Given the description of an element on the screen output the (x, y) to click on. 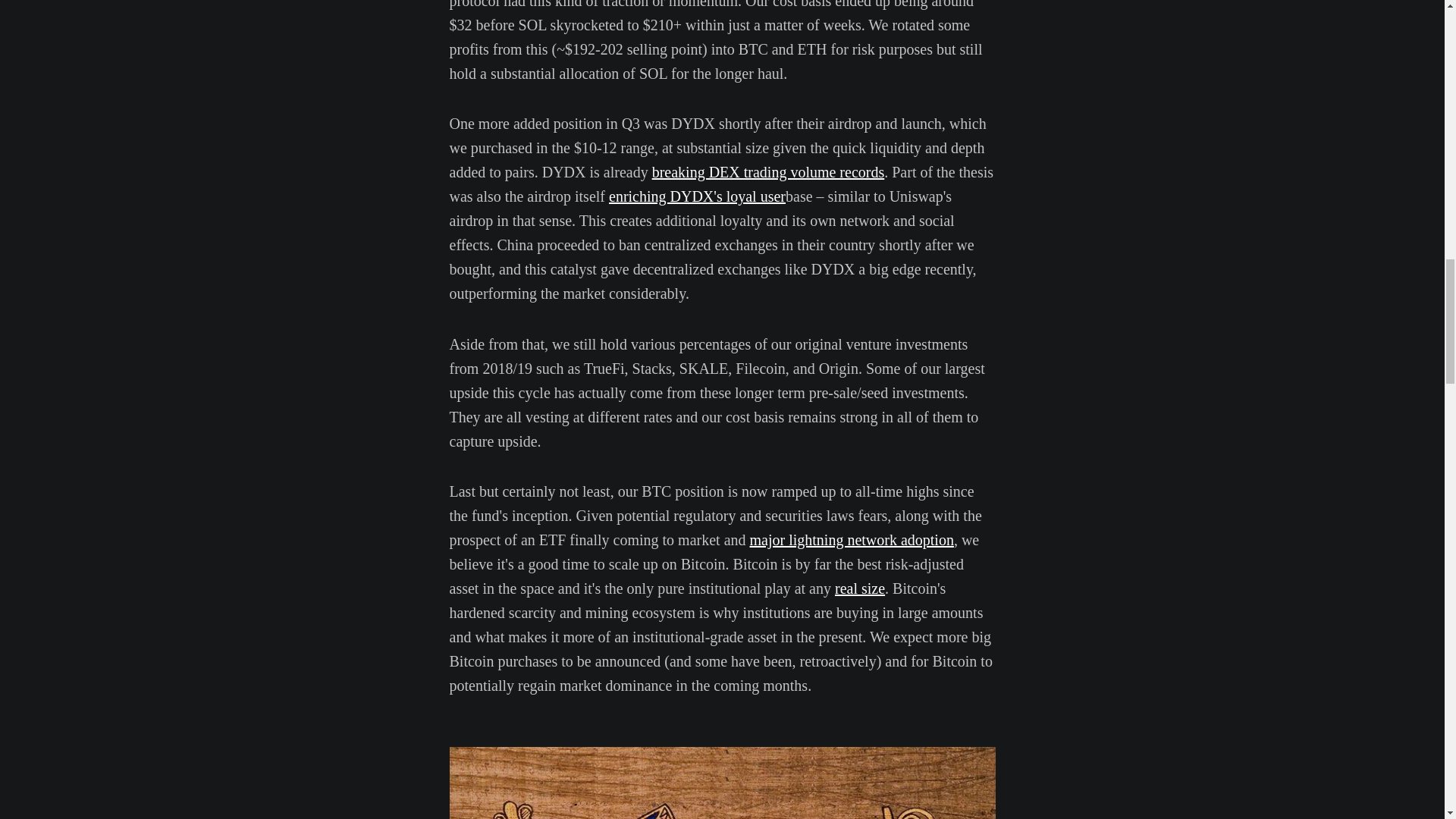
breaking DEX trading volume records (768, 171)
enriching DYDX's loyal user (697, 196)
real size (859, 588)
major lightning network adoption (851, 539)
